Given the description of an element on the screen output the (x, y) to click on. 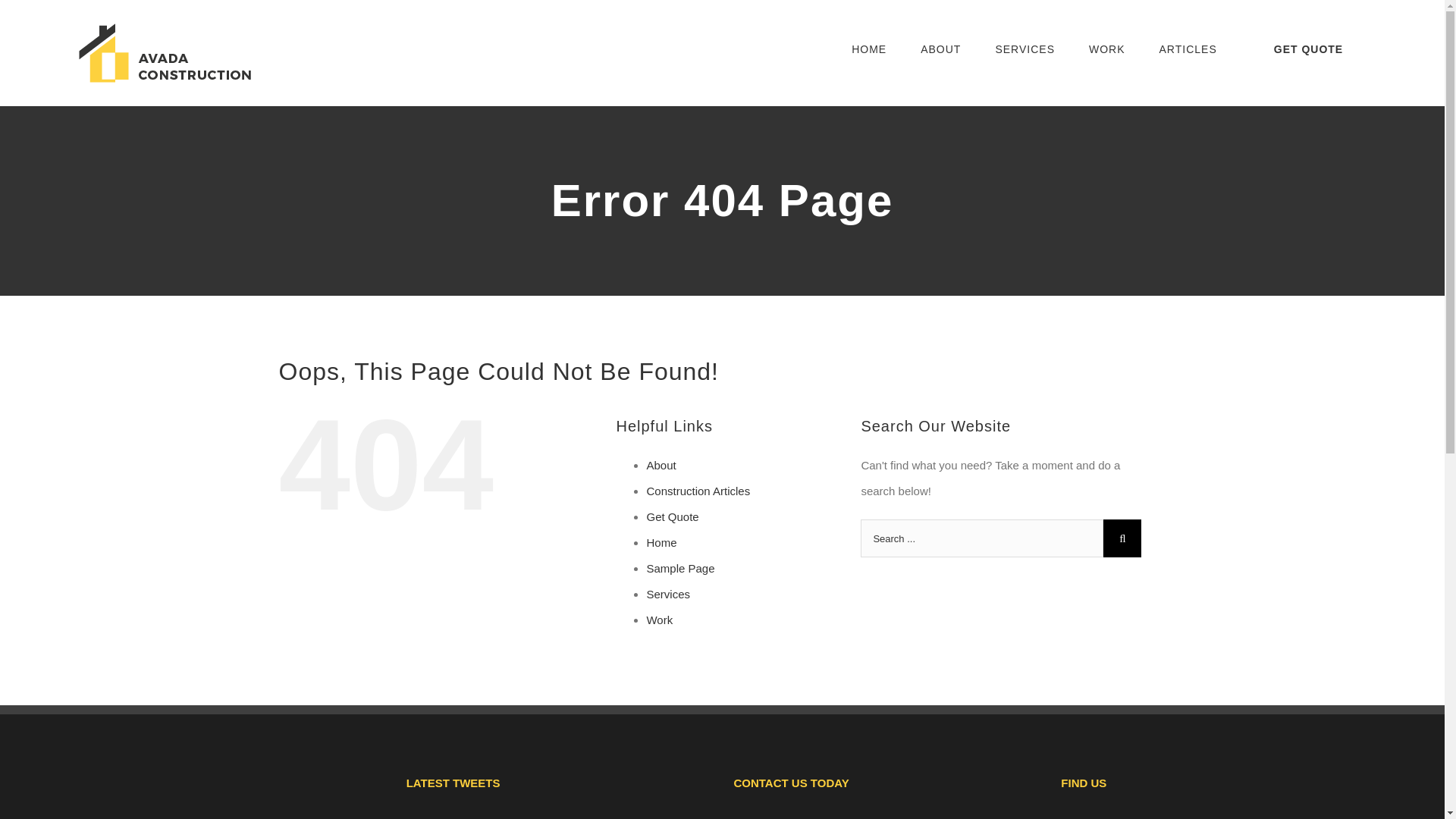
Work (659, 619)
Services (668, 594)
Construction Articles (697, 490)
Home (661, 542)
GET QUOTE (1307, 49)
About (660, 464)
Get Quote (672, 516)
Sample Page (680, 567)
